Given the description of an element on the screen output the (x, y) to click on. 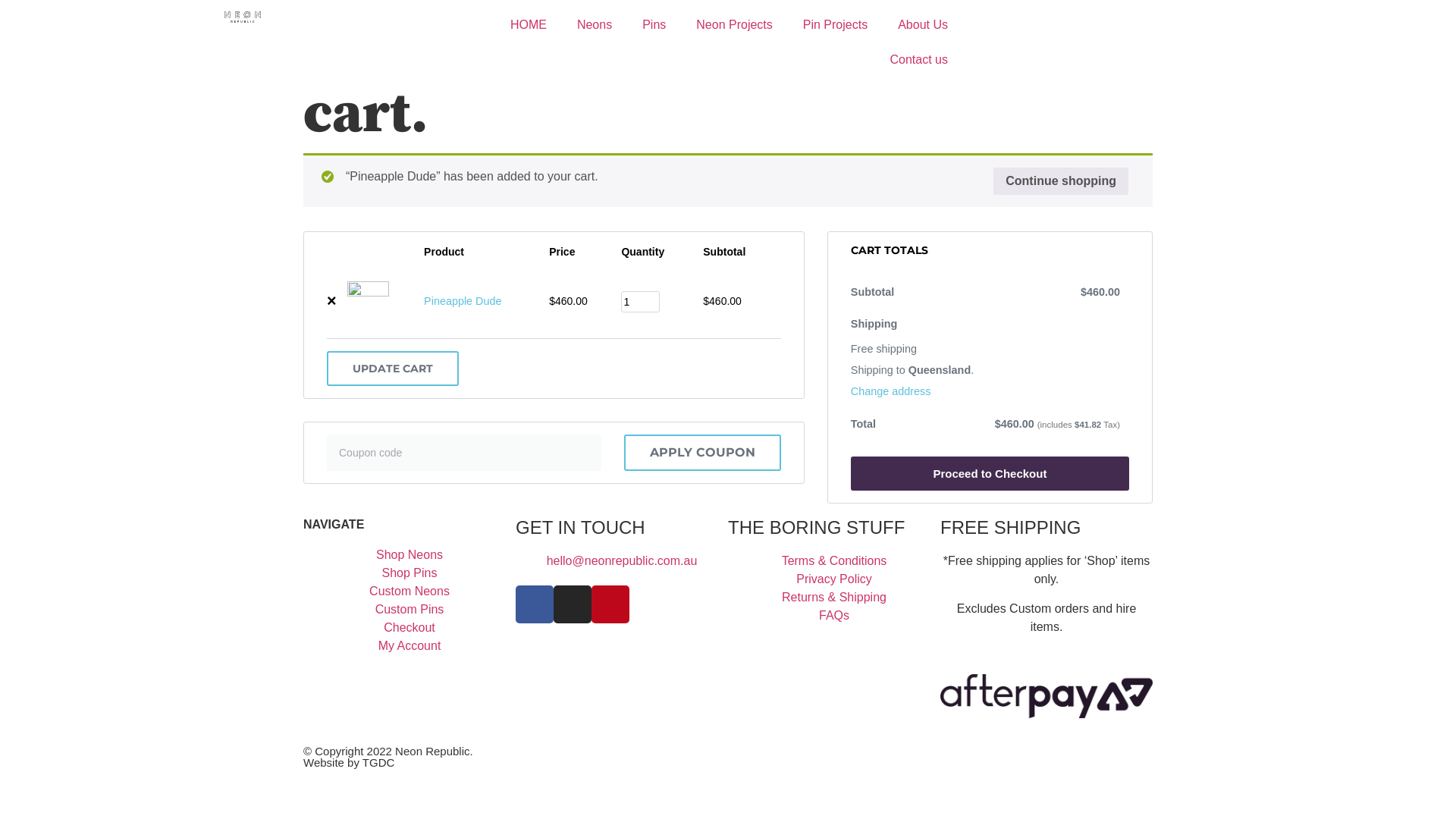
FAQs Element type: text (834, 615)
UPDATE CART Element type: text (392, 368)
Neons Element type: text (594, 24)
Shop Pins Element type: text (409, 573)
Pin Projects Element type: text (834, 24)
Proceed to Checkout Element type: text (989, 473)
Shop Neons Element type: text (409, 555)
Terms & Conditions Element type: text (834, 561)
Privacy Policy Element type: text (834, 579)
HOME Element type: text (528, 24)
Contact us Element type: text (918, 59)
Pins Element type: text (653, 24)
Returns & Shipping Element type: text (834, 597)
hello@neonrepublic.com.au Element type: text (621, 561)
My Account Element type: text (409, 646)
Continue shopping Element type: text (1060, 180)
Custom Pins Element type: text (409, 609)
Custom Neons Element type: text (409, 591)
APPLY COUPON Element type: text (702, 452)
About Us Element type: text (922, 24)
Neon Projects Element type: text (733, 24)
Pineapple Dude Element type: text (462, 300)
Change address Element type: text (890, 391)
Checkout Element type: text (409, 627)
